Given the description of an element on the screen output the (x, y) to click on. 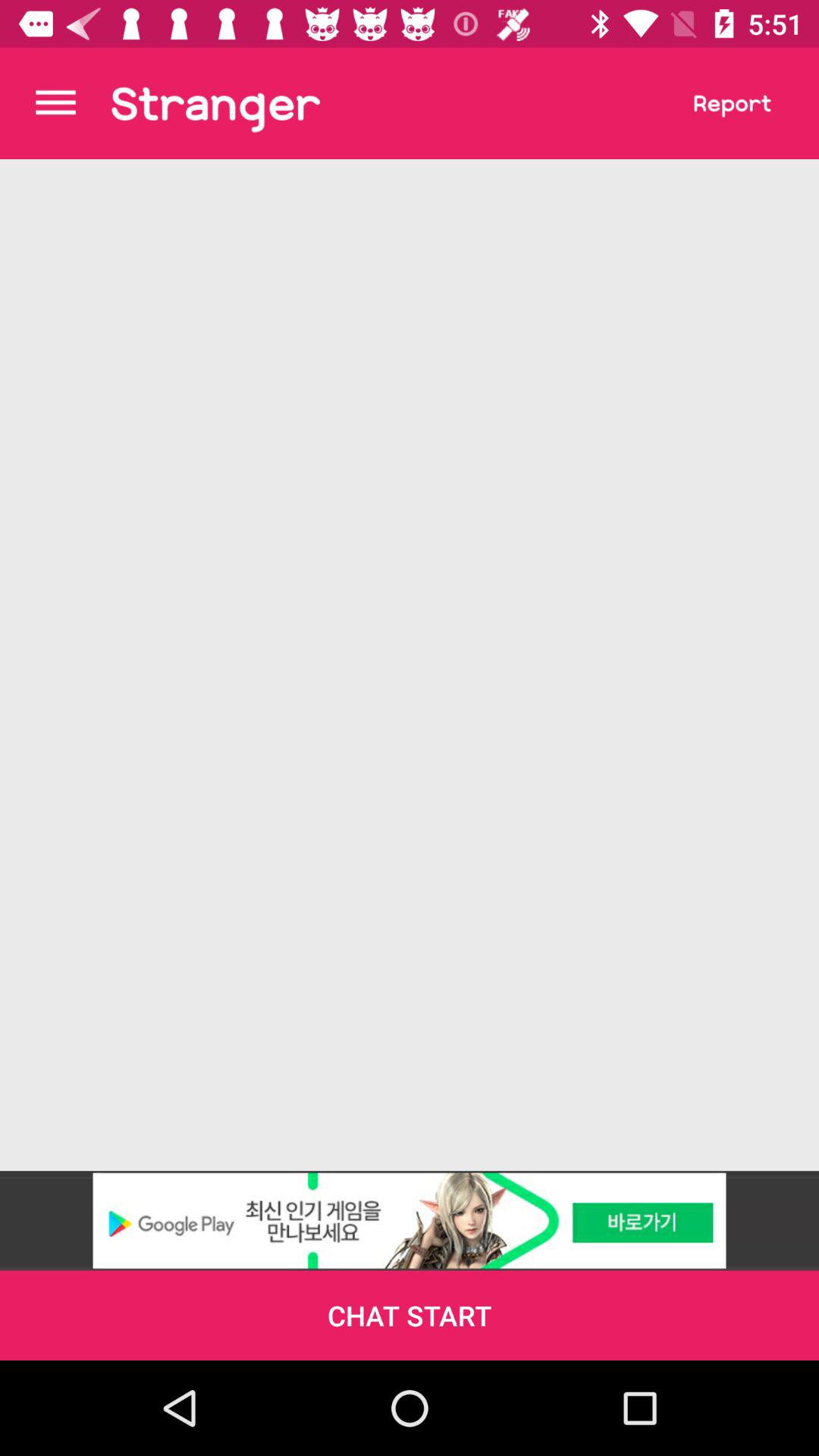
report user (732, 103)
